Given the description of an element on the screen output the (x, y) to click on. 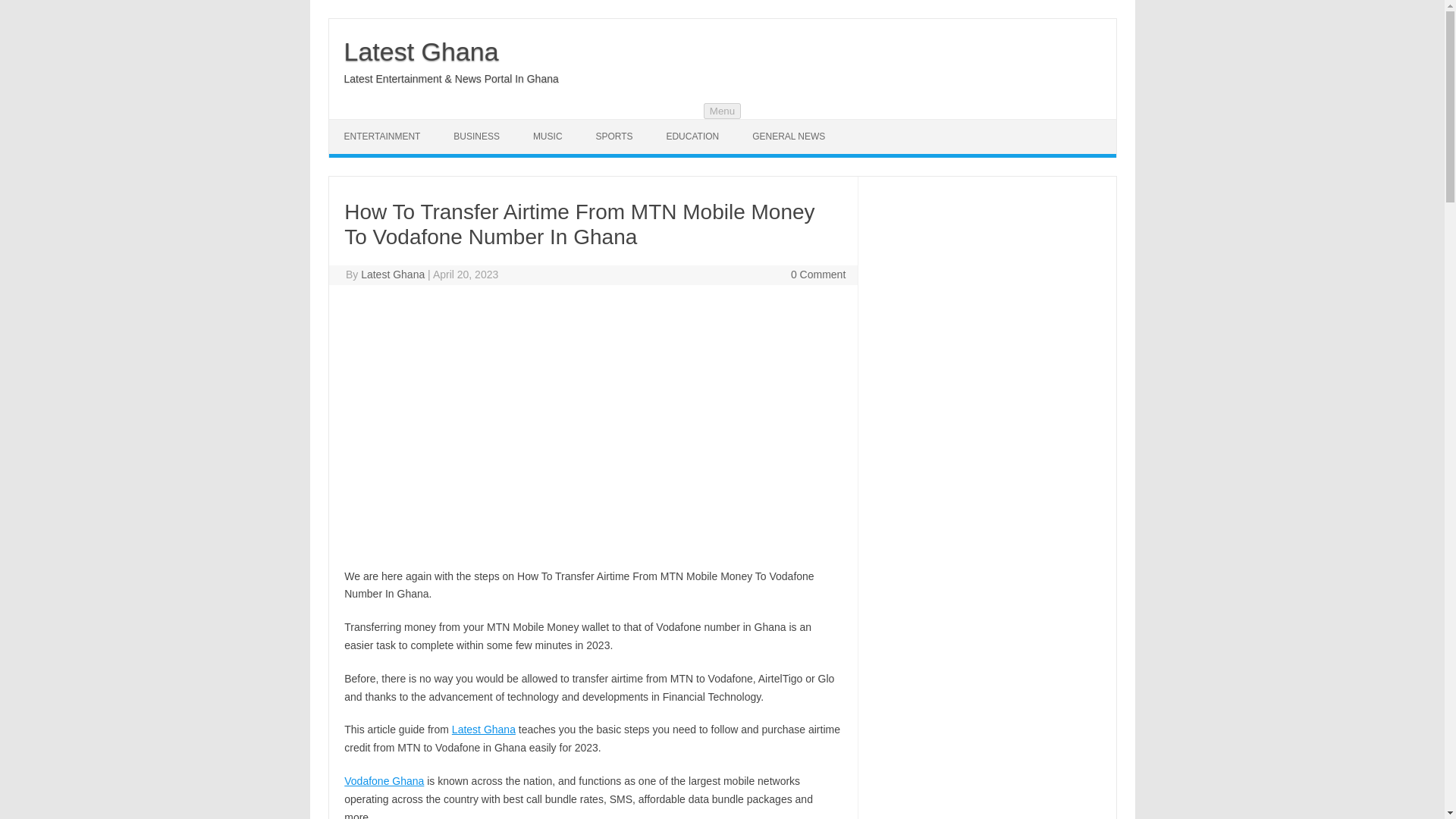
Latest Ghana (421, 51)
0 Comment (817, 274)
Vodafone Ghana (383, 780)
Posts by Latest Ghana (393, 274)
Latest Ghana (421, 51)
MUSIC (548, 136)
ENTERTAINMENT (382, 136)
Latest Ghana (393, 274)
GENERAL NEWS (788, 136)
